Given the description of an element on the screen output the (x, y) to click on. 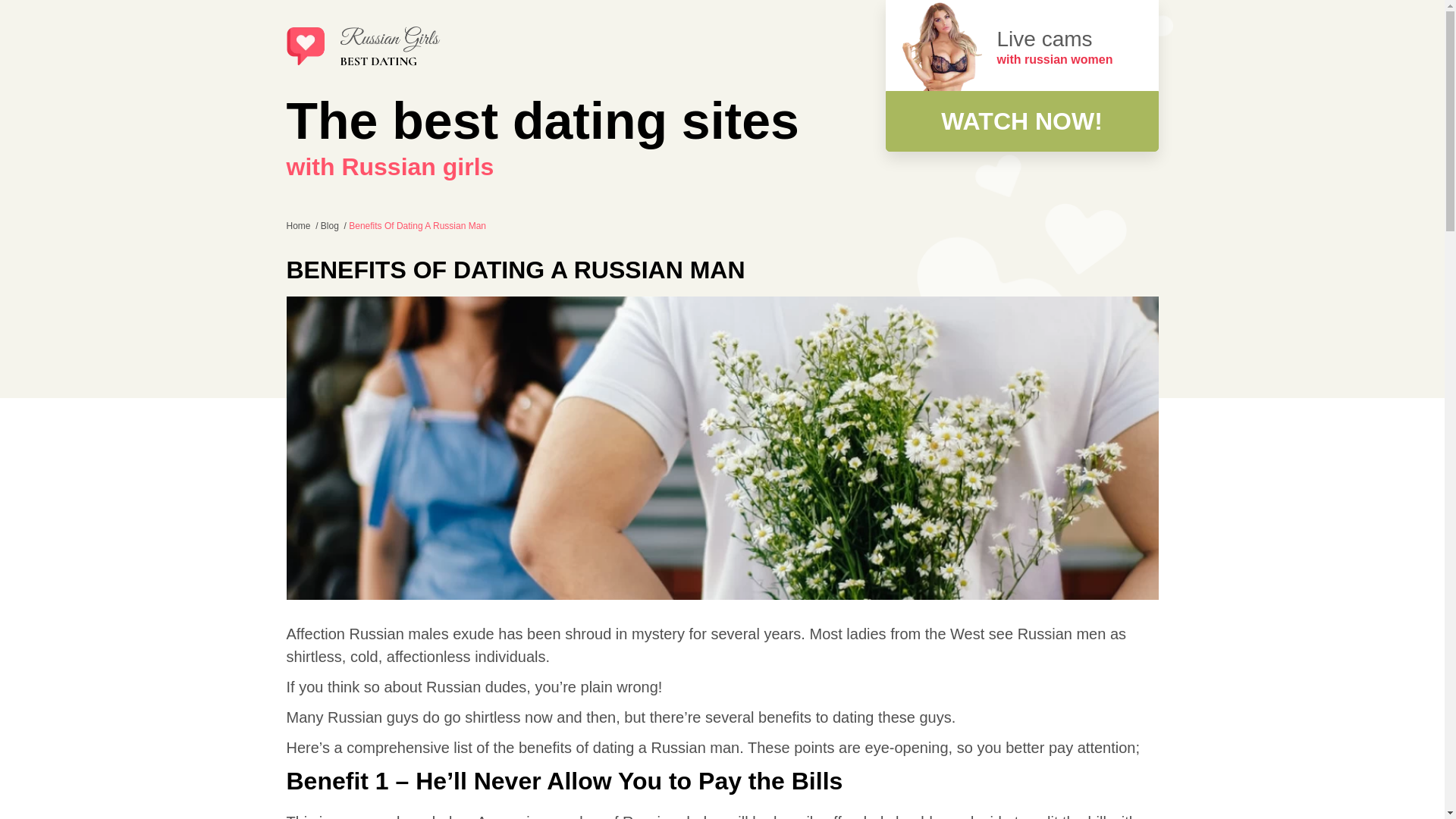
Home (299, 225)
WATCH NOW! (1021, 120)
Blog (330, 225)
